Given the description of an element on the screen output the (x, y) to click on. 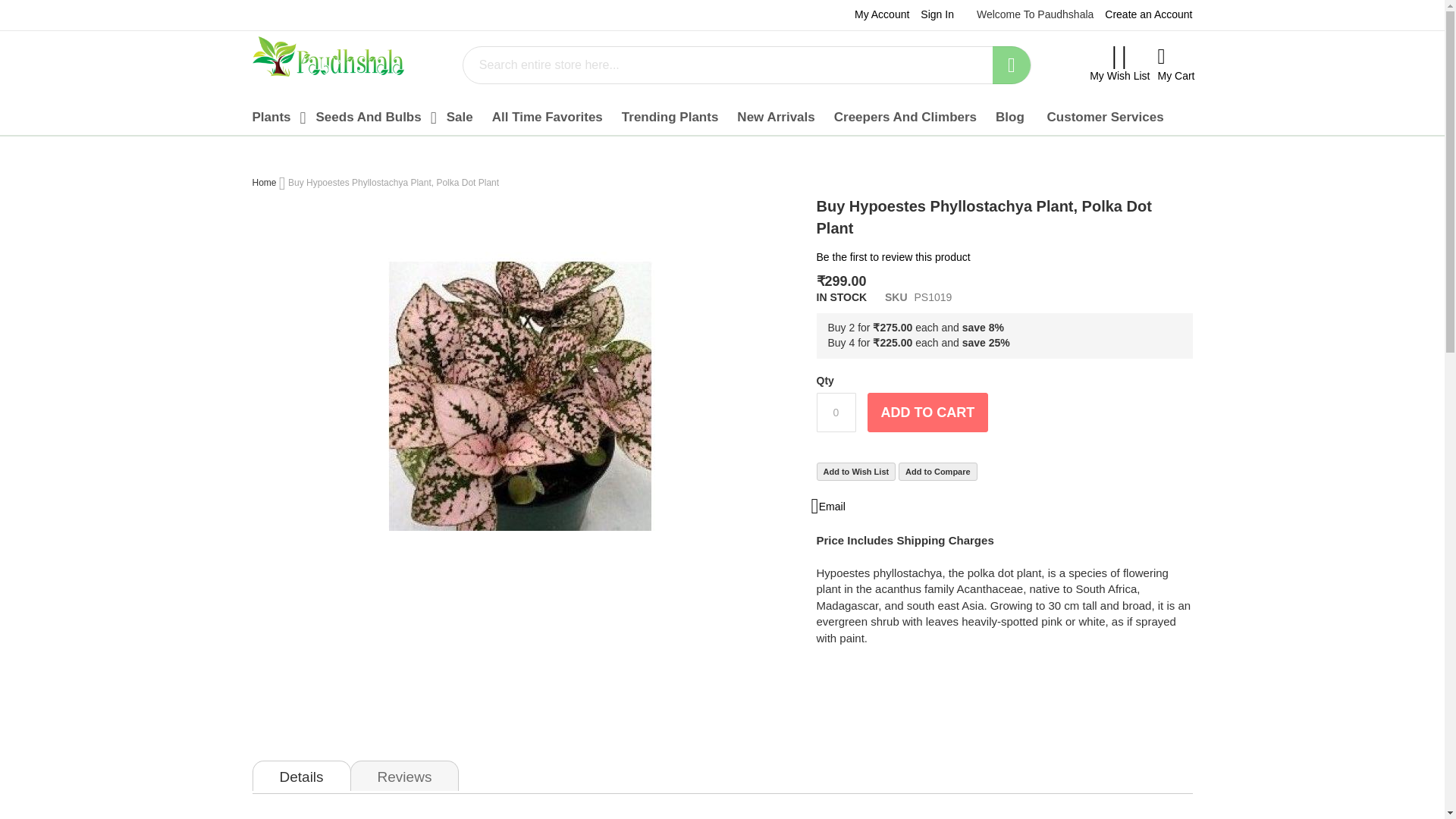
Go to Home Page (263, 182)
My Wish List (1119, 64)
My Cart (1175, 64)
My Account (881, 14)
Plants (274, 117)
Paudhshala (327, 60)
Create an Account (1148, 14)
Paudhshala (327, 56)
Add to Cart (927, 412)
